Given the description of an element on the screen output the (x, y) to click on. 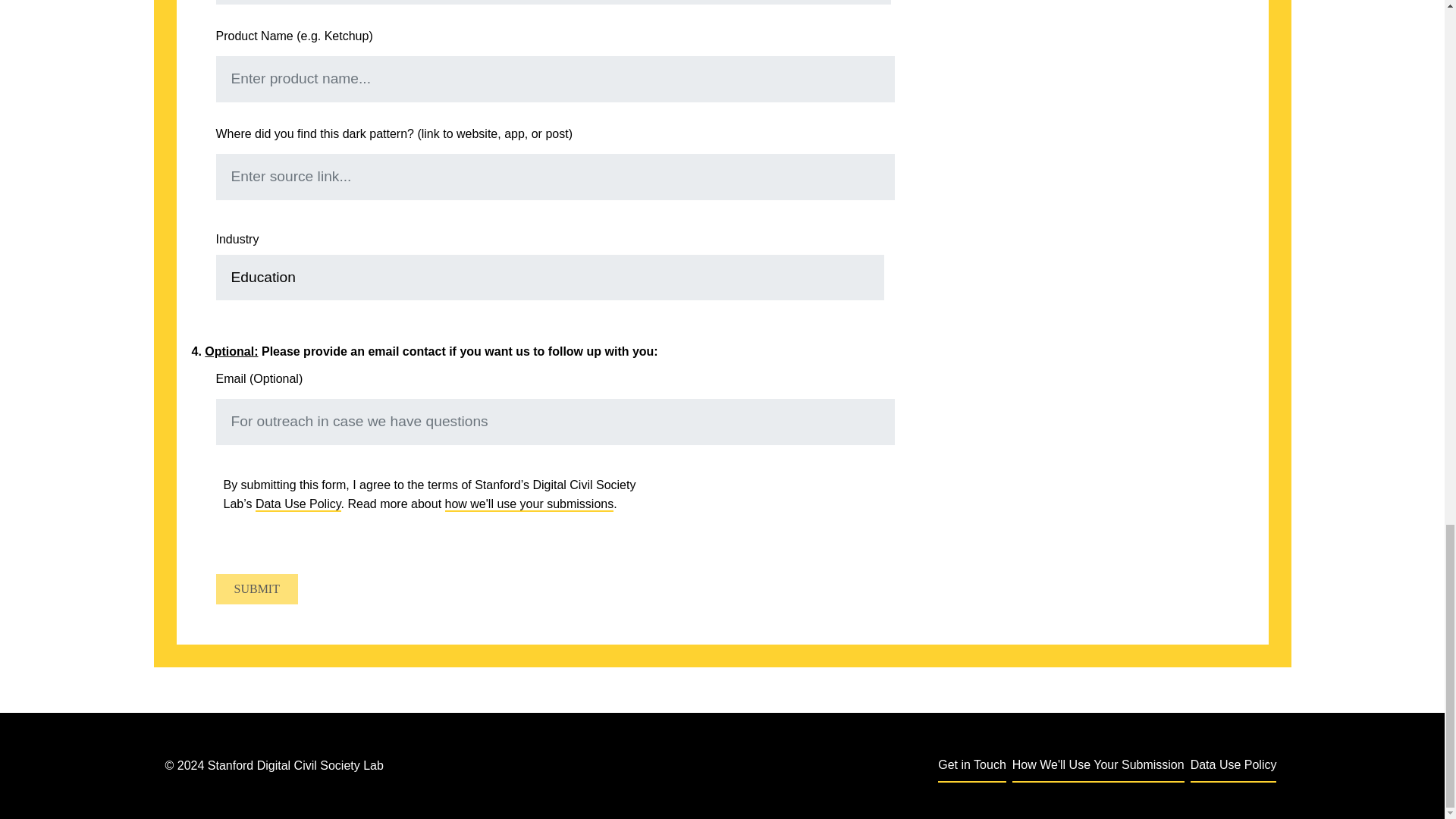
SUBMIT (256, 589)
How We'll Use Your Submission (1098, 765)
Data Use Policy (1233, 765)
how we'll use your submissions (529, 503)
Data Use Policy (298, 503)
Get in Touch (971, 765)
